Given the description of an element on the screen output the (x, y) to click on. 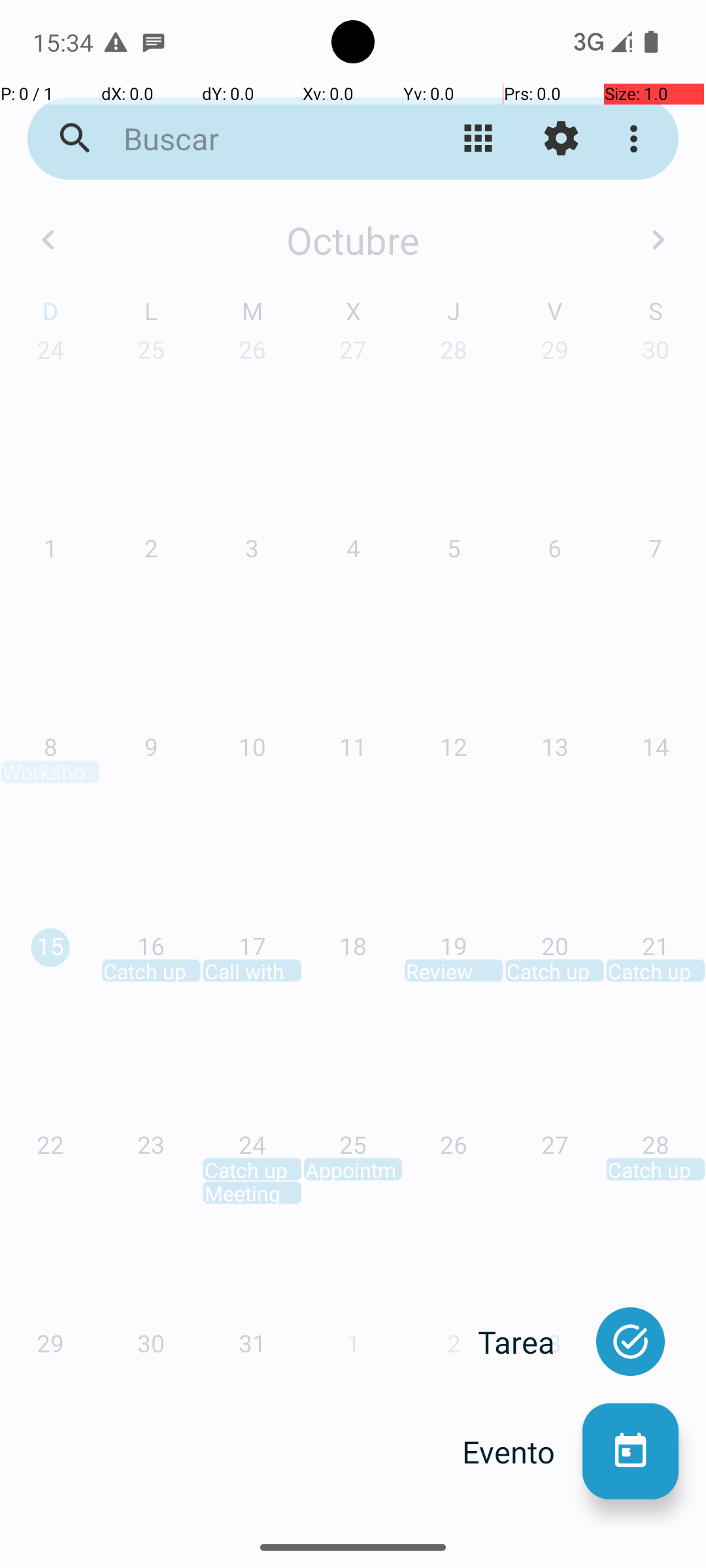
Tarea Element type: android.widget.TextView (529, 1341)
Evento Element type: android.widget.TextView (522, 1451)
Octubre Element type: android.widget.TextView (352, 239)
